Given the description of an element on the screen output the (x, y) to click on. 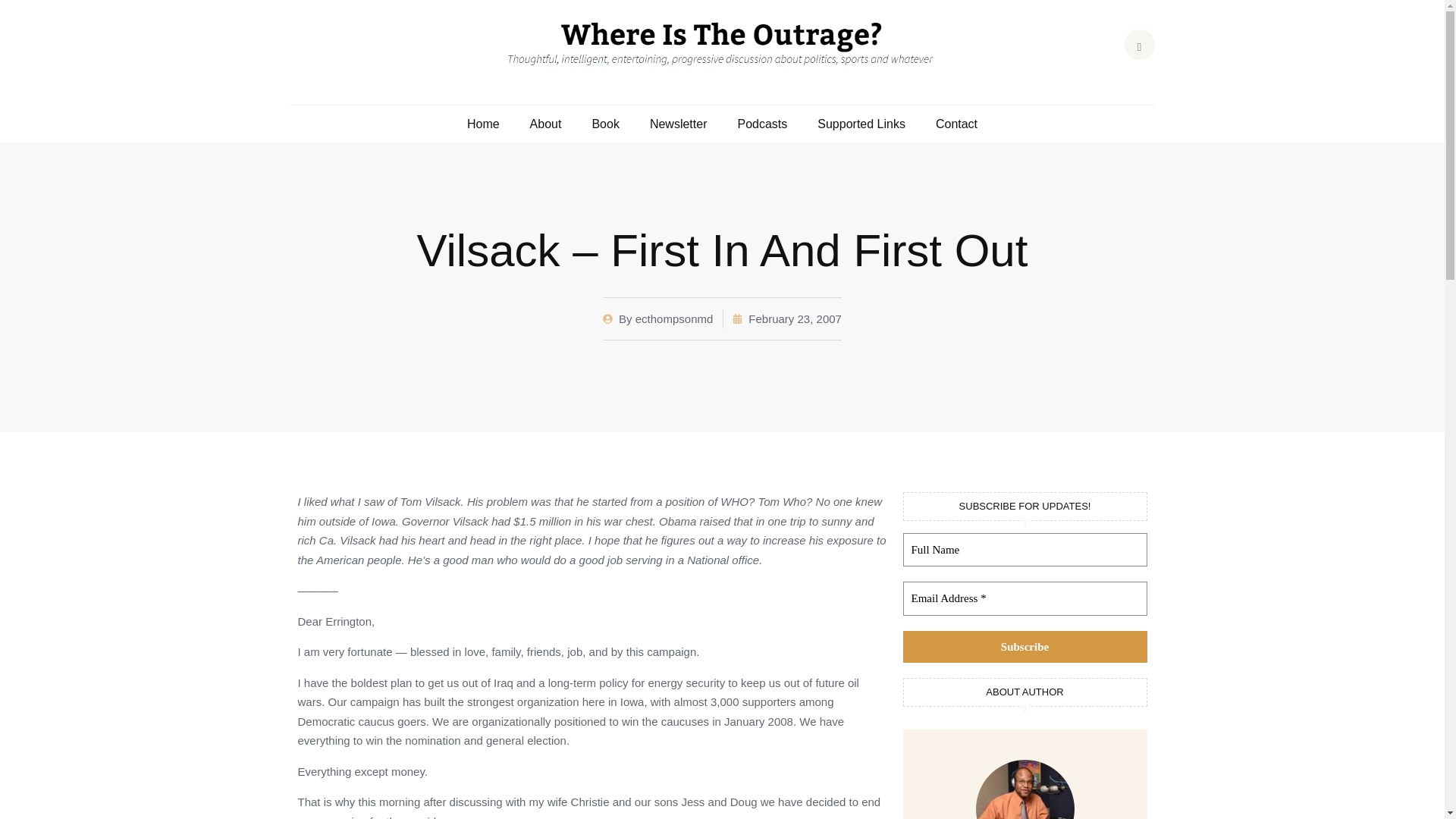
Email Address (1024, 598)
Full Name (1024, 550)
Subscribe (1024, 646)
Subscribe (1024, 646)
February 23, 2007 (786, 319)
Podcasts (761, 124)
Contact (956, 124)
Supported Links (860, 124)
By ecthompsonmd (657, 319)
Home (483, 124)
About (545, 124)
Newsletter (678, 124)
Book (604, 124)
